Given the description of an element on the screen output the (x, y) to click on. 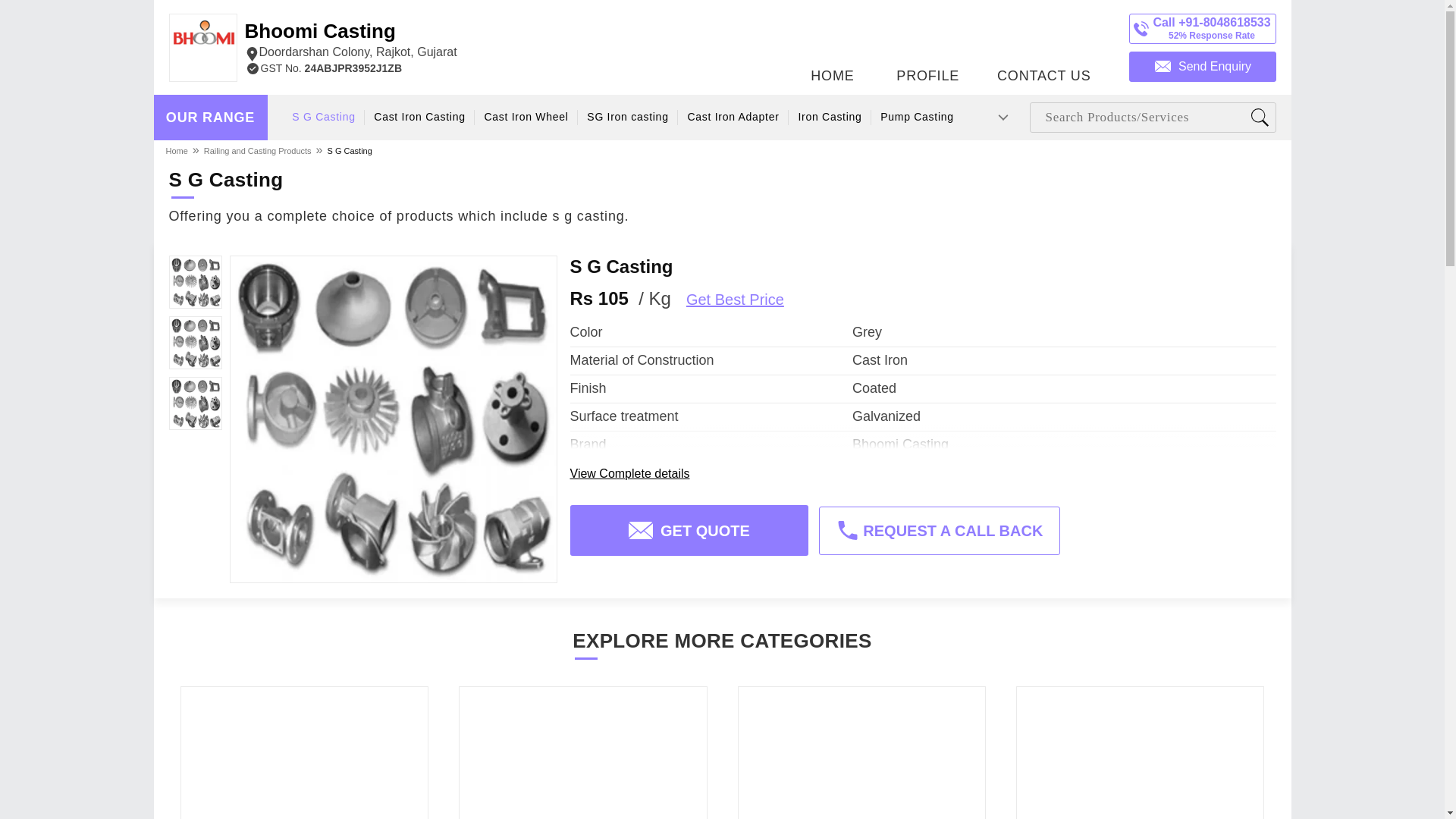
CONTACT US (1043, 43)
Cast Iron Casting (350, 41)
Cast Iron Adapter (419, 117)
Iron Casting (732, 117)
SG Iron casting (829, 117)
S G Casting (627, 117)
Railing and Casting Products (349, 150)
Cast Iron Wheel (257, 150)
Pump Casting (525, 117)
